Given the description of an element on the screen output the (x, y) to click on. 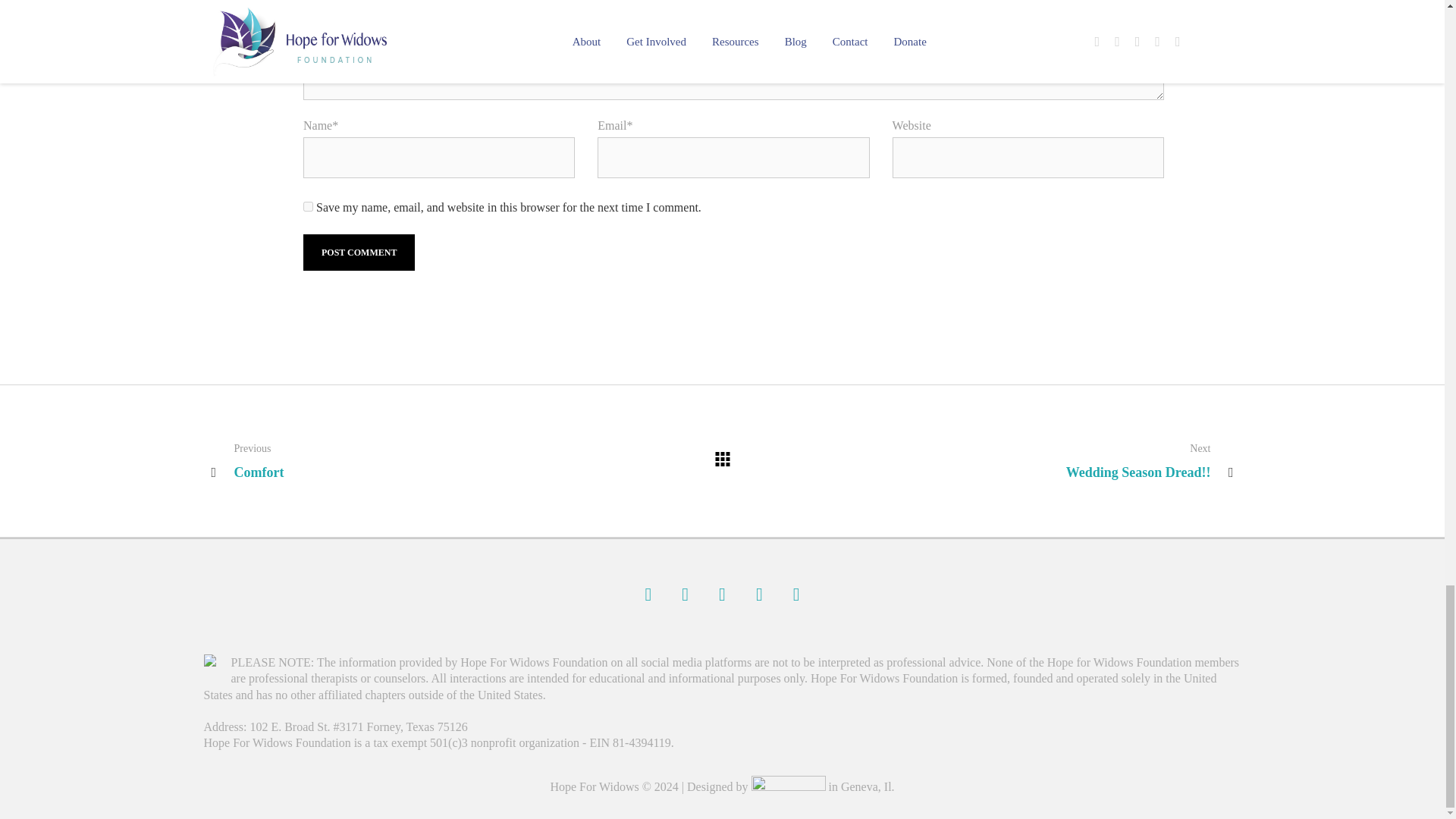
yes (307, 206)
Post Comment (358, 252)
